Given the description of an element on the screen output the (x, y) to click on. 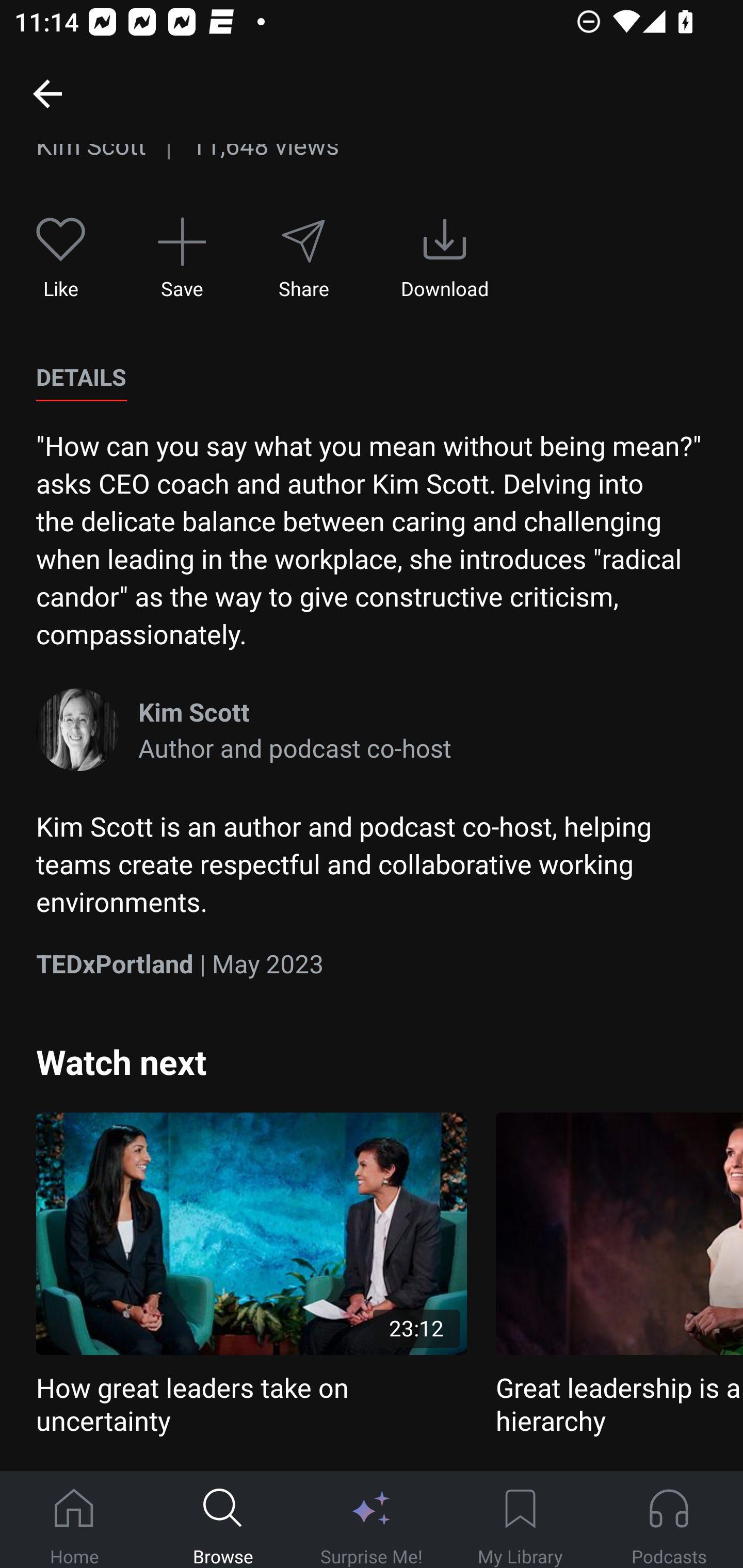
Search, back (47, 92)
Like (60, 258)
Save (181, 258)
Share (302, 258)
Download (444, 258)
DETAILS (80, 377)
23:12 How great leaders take on uncertainty (251, 1275)
Great leadership is a network, not a hierarchy (619, 1275)
Home (74, 1520)
Browse (222, 1520)
Surprise Me! (371, 1520)
My Library (519, 1520)
Podcasts (668, 1520)
